Given the description of an element on the screen output the (x, y) to click on. 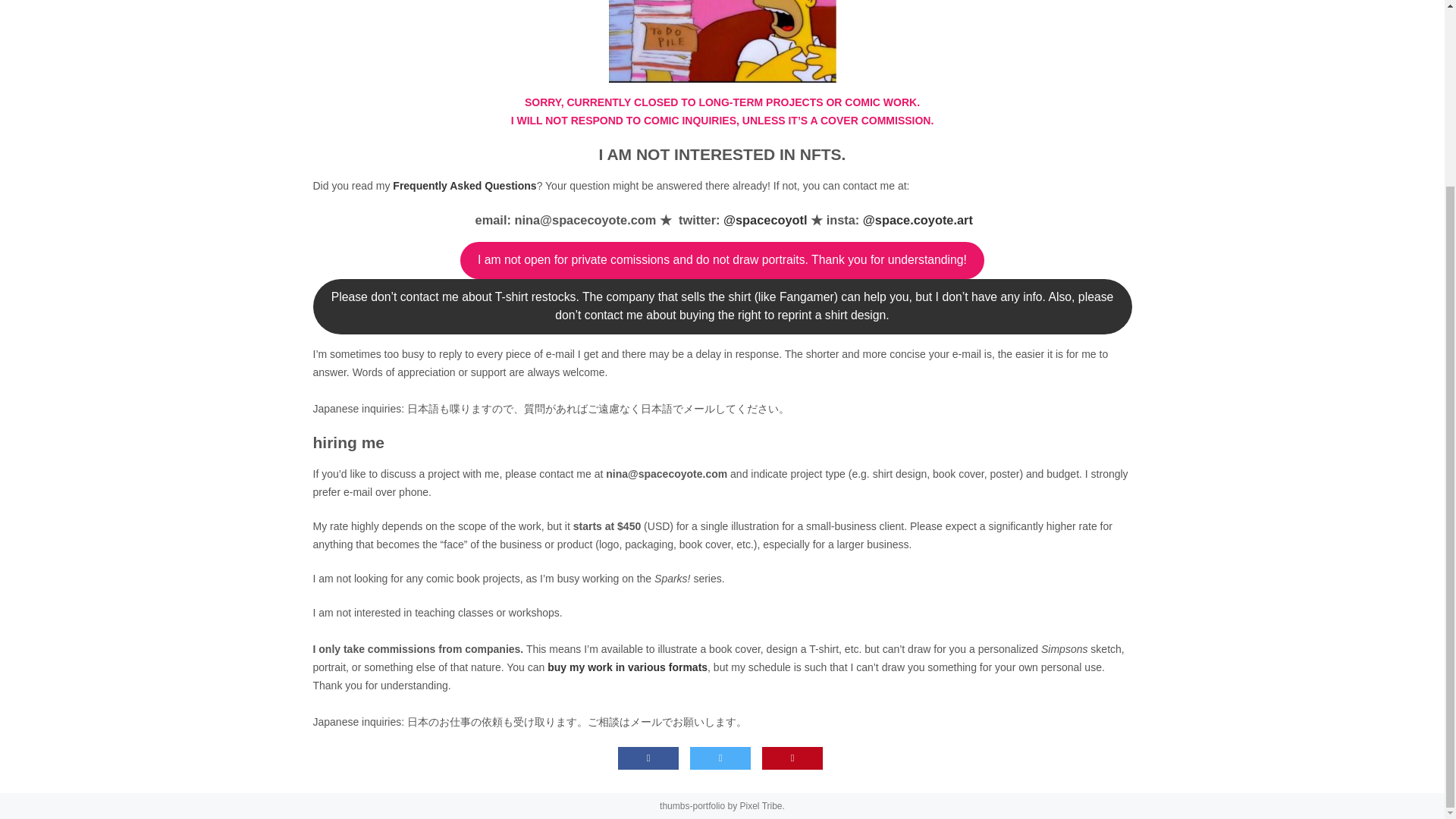
Pixel Tribe (761, 805)
buy my work in various formats (627, 666)
Frequently Asked Questions (464, 185)
